Given the description of an element on the screen output the (x, y) to click on. 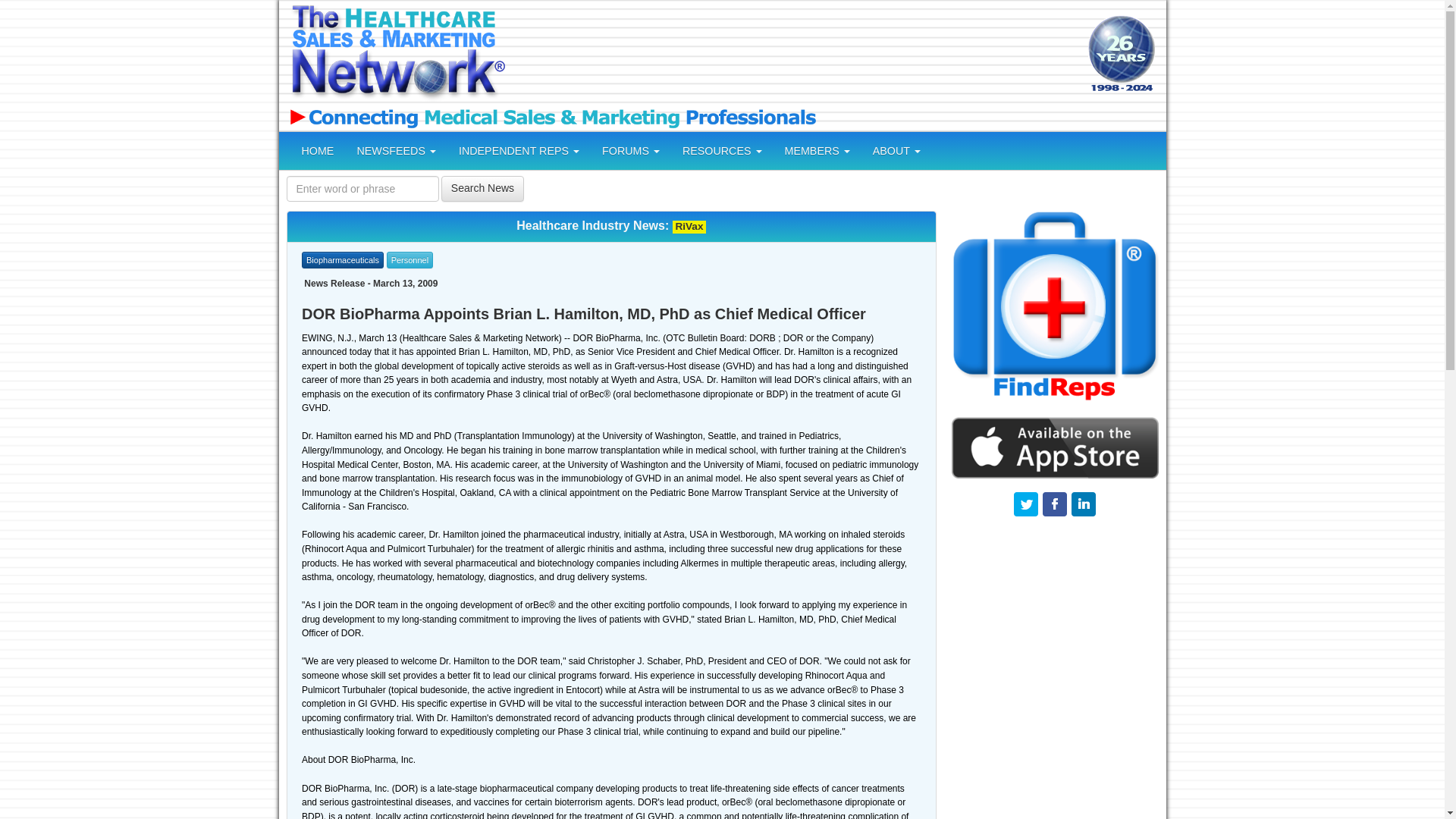
Search News (482, 188)
NEWSFEEDS  (395, 150)
Advertisement (794, 55)
HOME (317, 150)
INDEPENDENT REPS  (518, 150)
RESOURCES  (722, 150)
FORUMS  (631, 150)
